Given the description of an element on the screen output the (x, y) to click on. 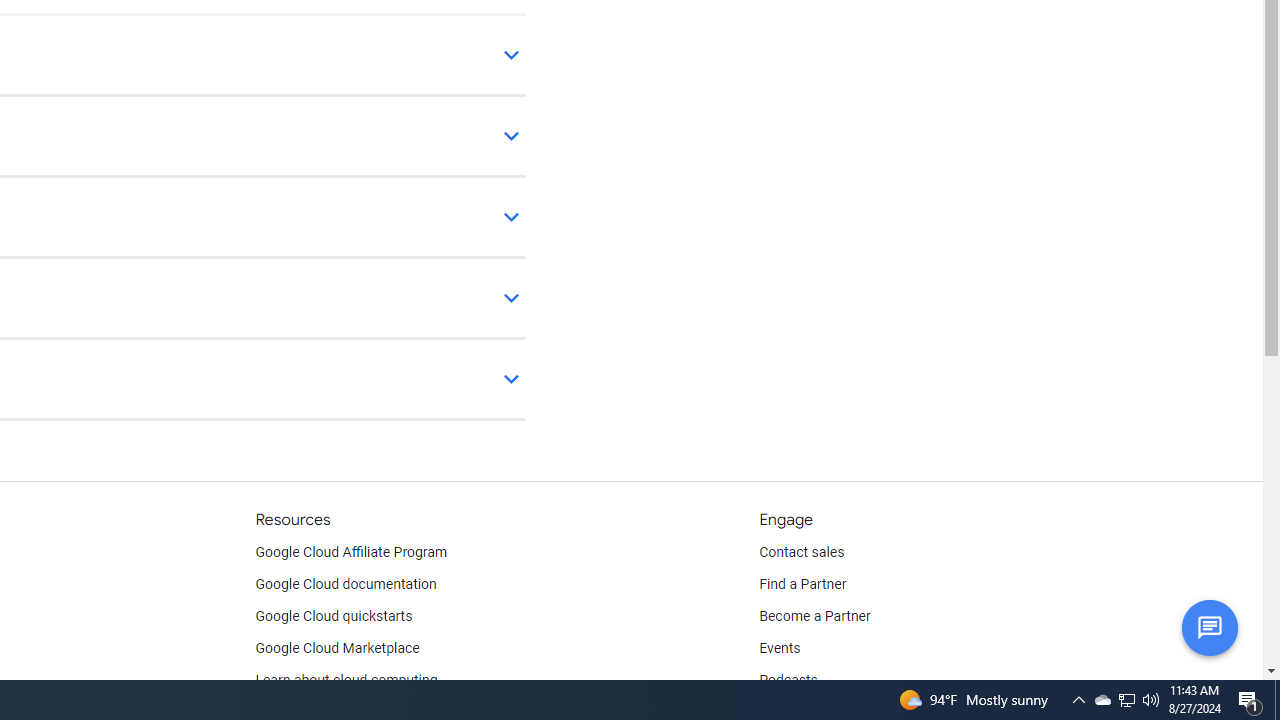
Events (780, 648)
Contact sales (801, 552)
Find a Partner (803, 584)
Podcasts (788, 680)
Google Cloud Marketplace (336, 648)
Google Cloud quickstarts (333, 616)
Google Cloud Affiliate Program (351, 552)
Become a Partner (814, 616)
Google Cloud documentation (345, 584)
Button to activate chat (1209, 627)
Learn about cloud computing (345, 680)
